Given the description of an element on the screen output the (x, y) to click on. 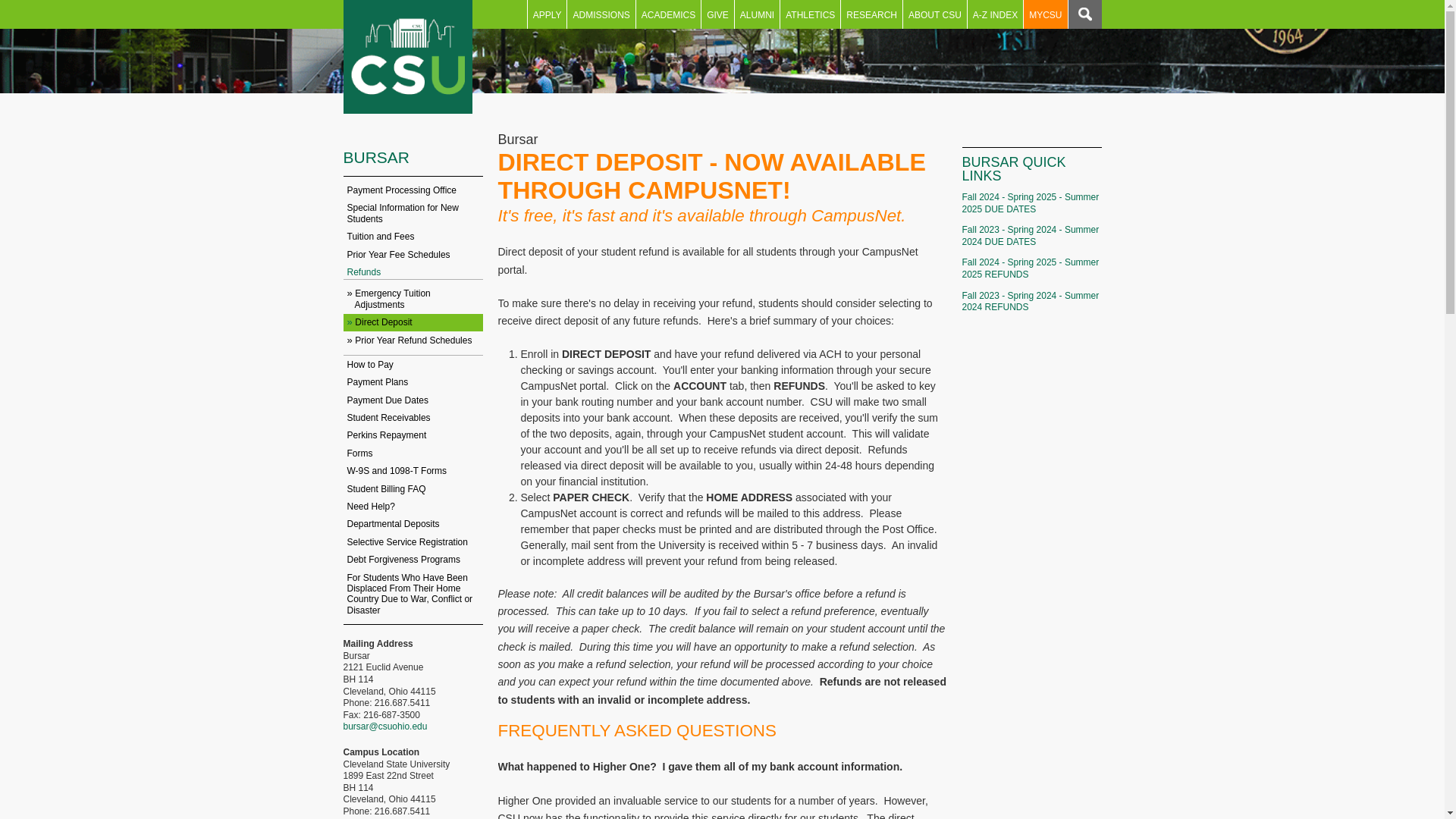
ABOUT CSU (934, 14)
RESEARCH (871, 14)
ADMISSIONS (600, 14)
Academics (668, 14)
ATHLETICS (810, 14)
ALUMNI (756, 14)
GIVE (717, 14)
Home (406, 56)
Search this site (1083, 14)
Admissions (600, 14)
ACADEMICS (668, 14)
APPLY (547, 14)
